Given the description of an element on the screen output the (x, y) to click on. 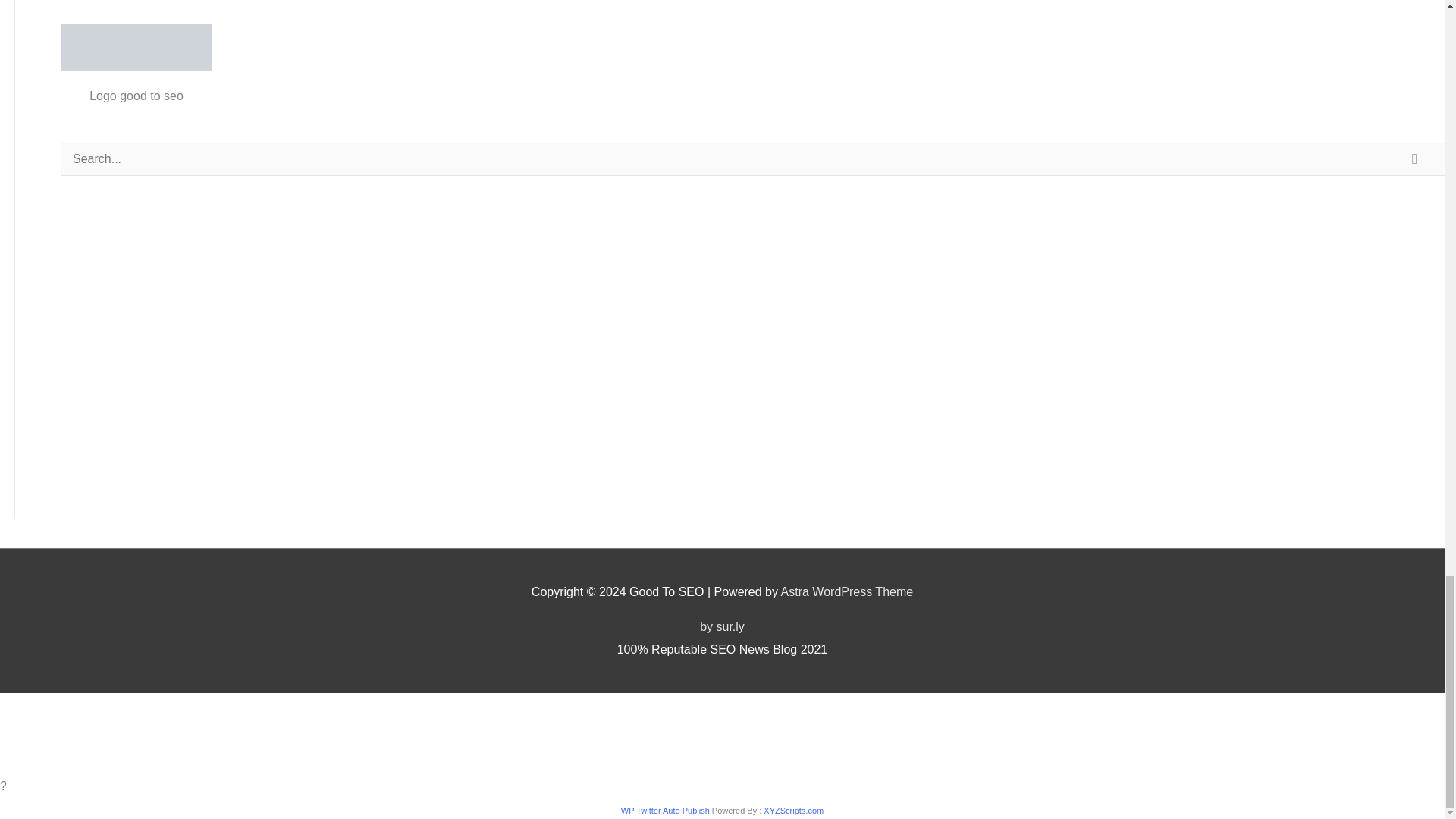
by sur.ly (722, 626)
XYZScripts.com (793, 809)
WP Twitter Auto Publish (665, 809)
WP Twitter Auto Publish (665, 809)
Astra WordPress Theme (847, 591)
All SEO Blogs In One Place (136, 47)
